Given the description of an element on the screen output the (x, y) to click on. 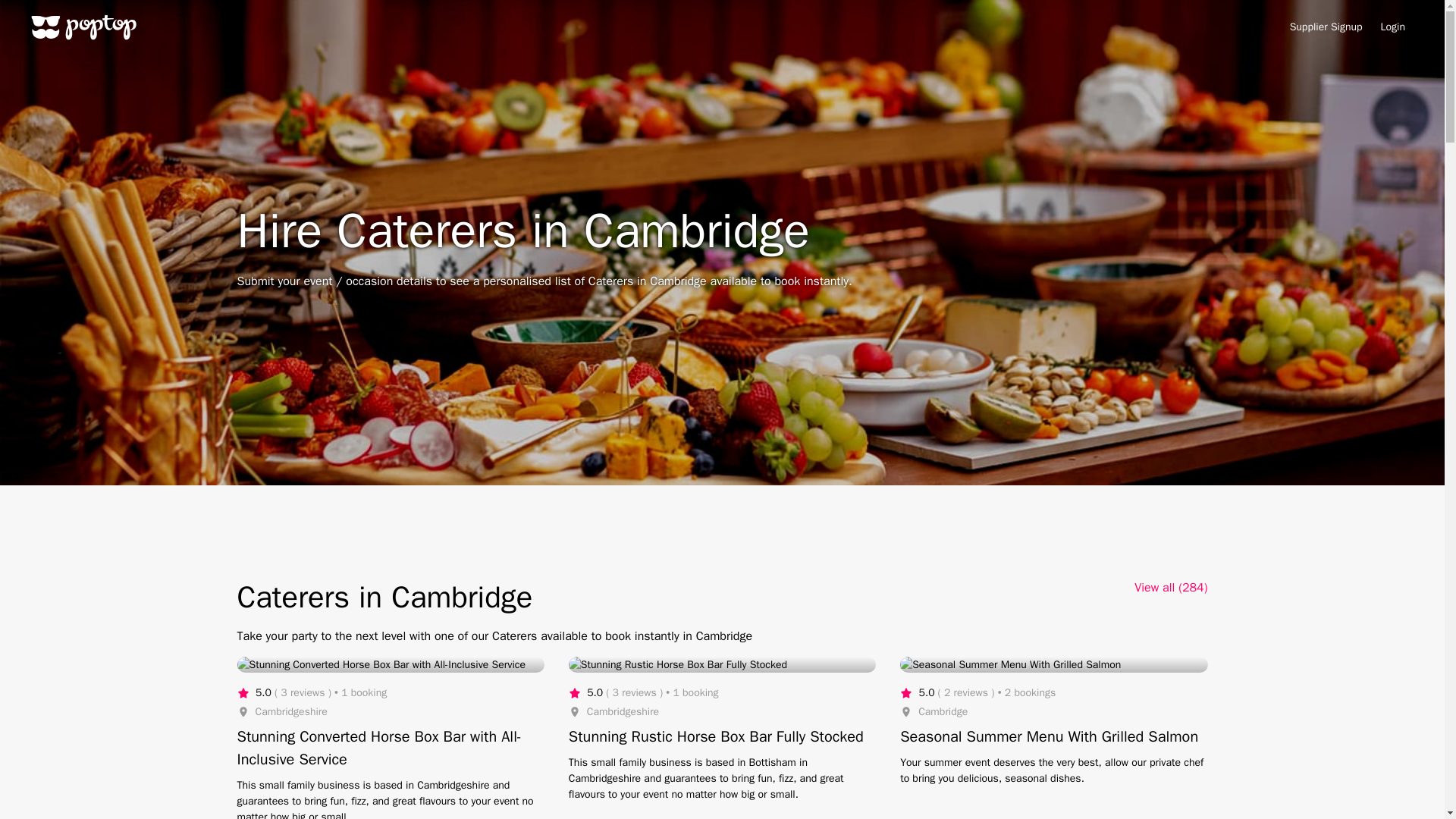
Login (1392, 26)
Supplier Signup (1326, 26)
